Given the description of an element on the screen output the (x, y) to click on. 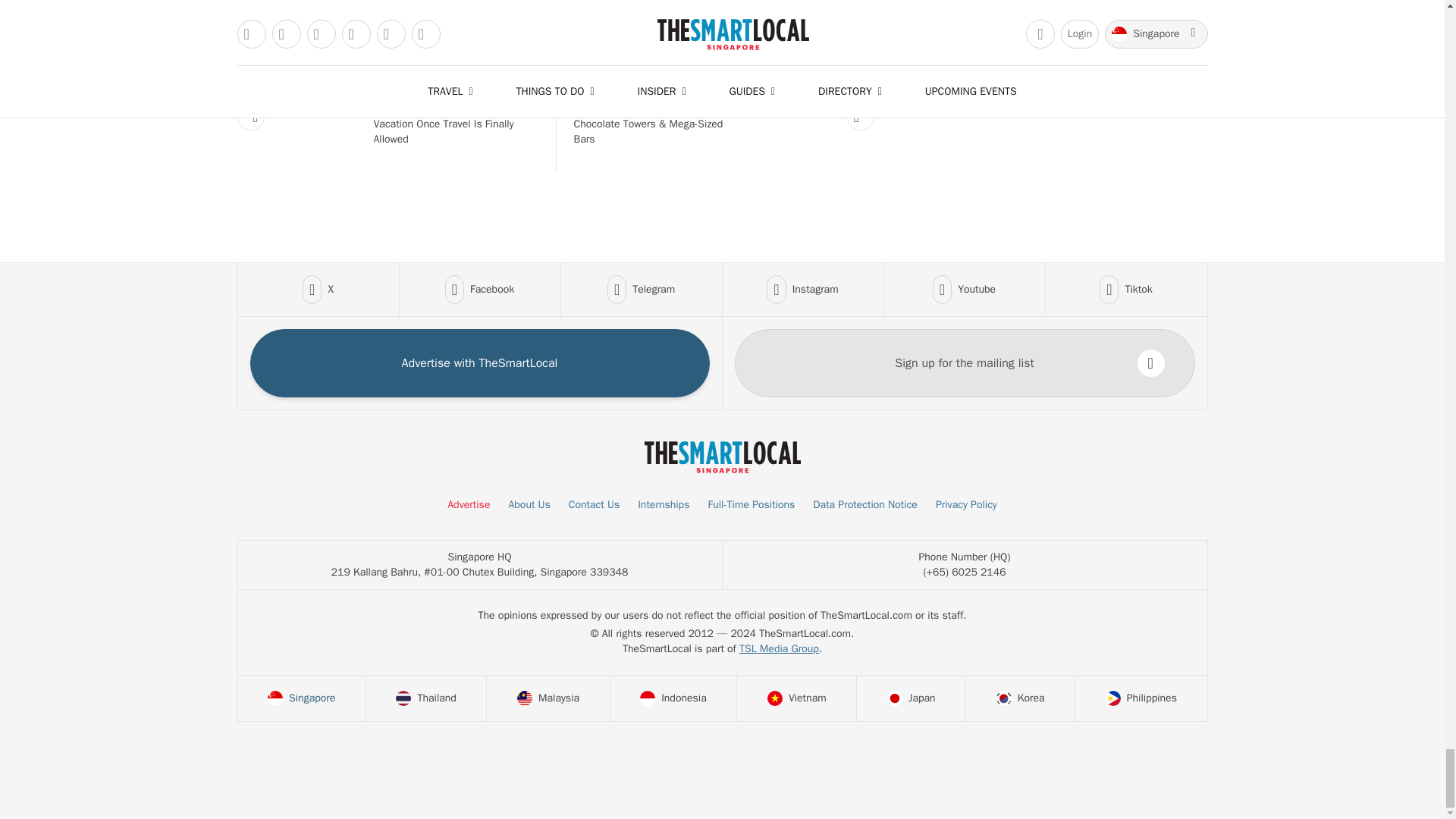
subscribe (1150, 362)
